Given the description of an element on the screen output the (x, y) to click on. 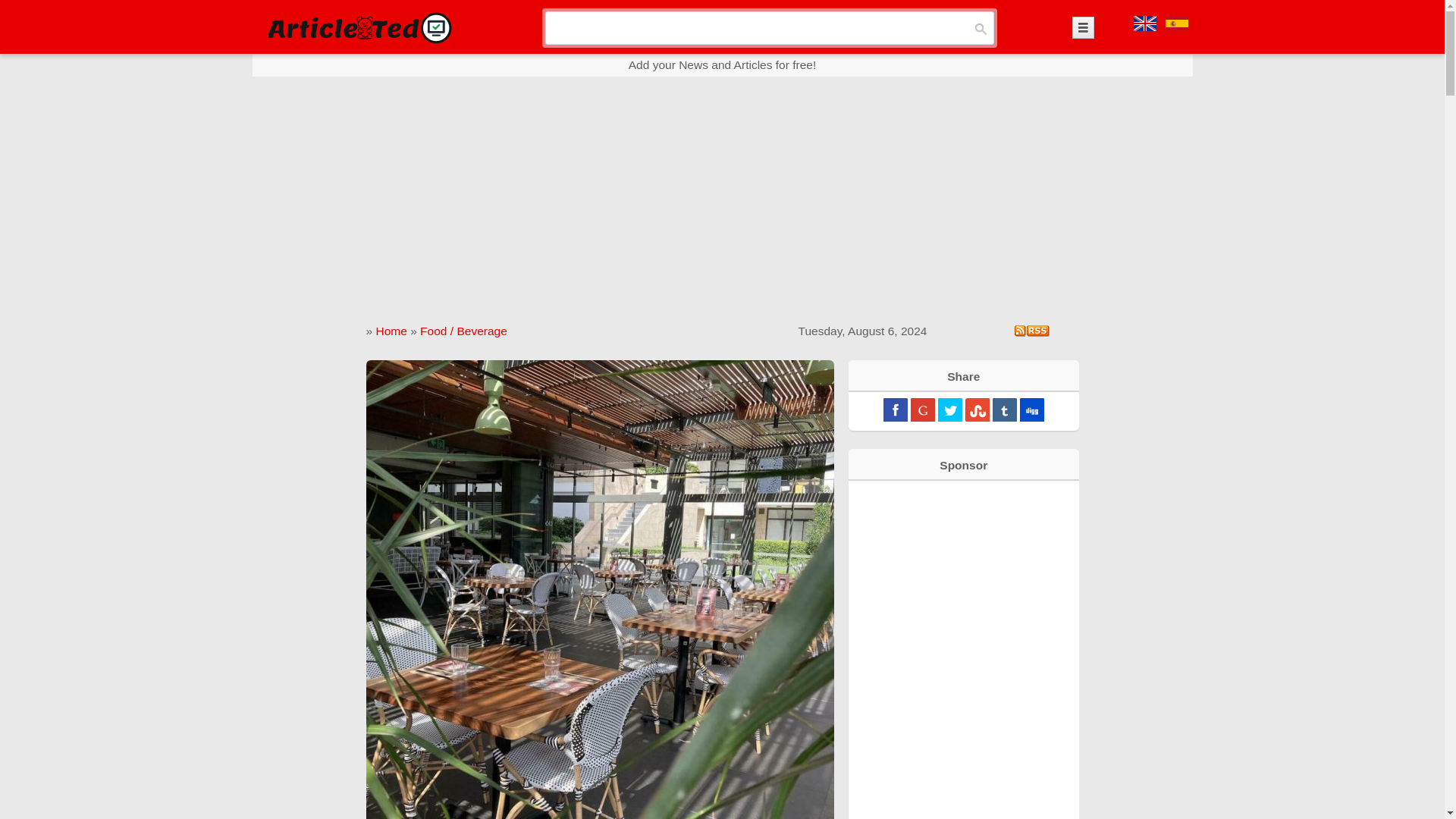
ArticleTed -  News and Articles (357, 27)
Home (390, 330)
